Given the description of an element on the screen output the (x, y) to click on. 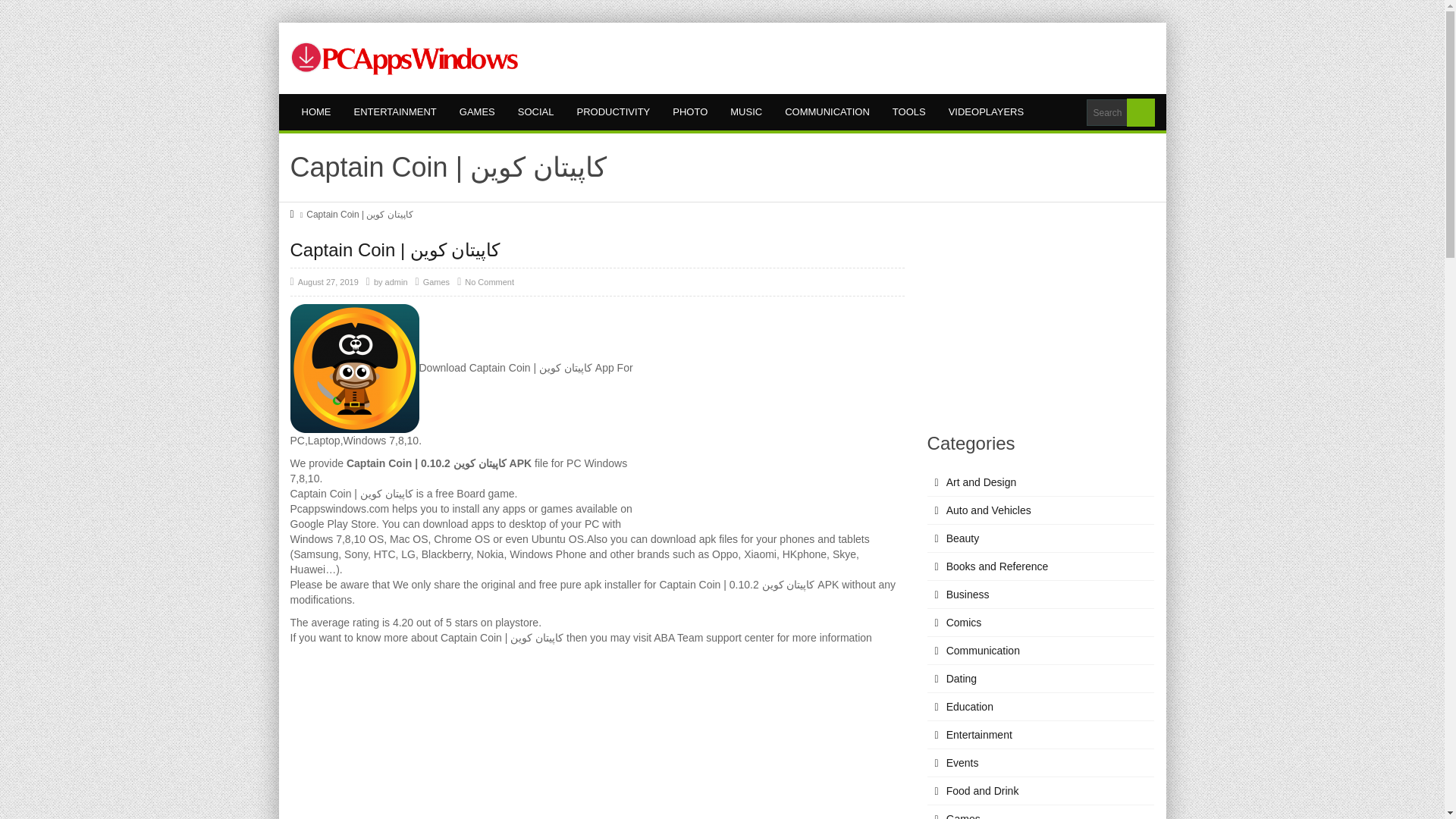
PHOTO (690, 112)
Beauty (1040, 538)
Games (436, 281)
Comics (1040, 623)
MUSIC (746, 112)
Art and Design (1040, 482)
Auto and Vehicles (1040, 510)
Pcappswindows.com (402, 58)
GAMES (477, 112)
HOME (315, 112)
TOOLS (908, 112)
VIDEOPLAYERS (986, 112)
PRODUCTIVITY (612, 112)
Books and Reference (1040, 566)
No Comment (488, 281)
